Given the description of an element on the screen output the (x, y) to click on. 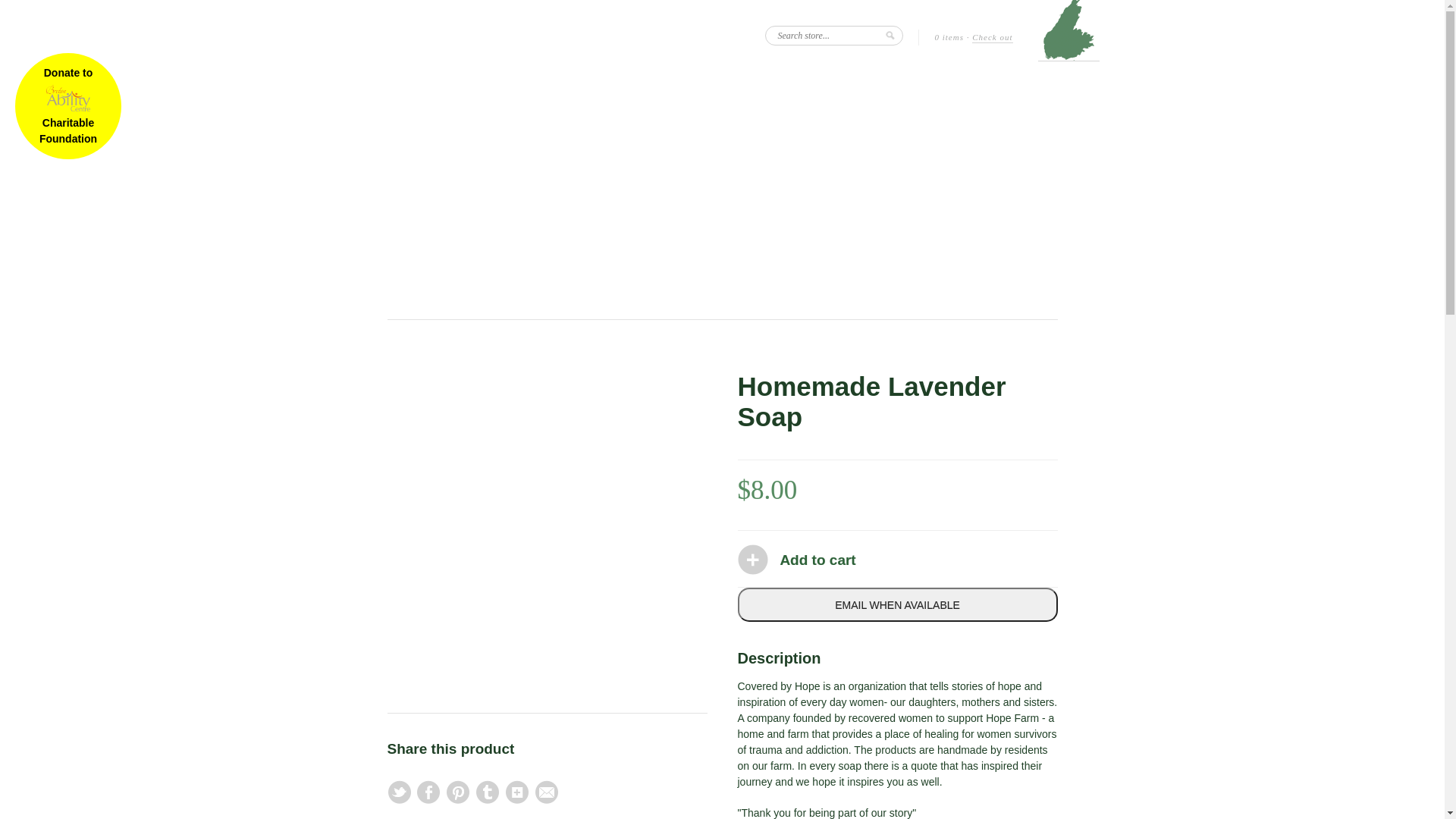
Check out Element type: text (992, 37)
Add to cart Element type: text (817, 560)
EMAIL WHEN AVAILABLE Element type: text (897, 604)
0 items Element type: text (948, 37)
Donate to
Charitable Foundation Element type: text (68, 106)
